Given the description of an element on the screen output the (x, y) to click on. 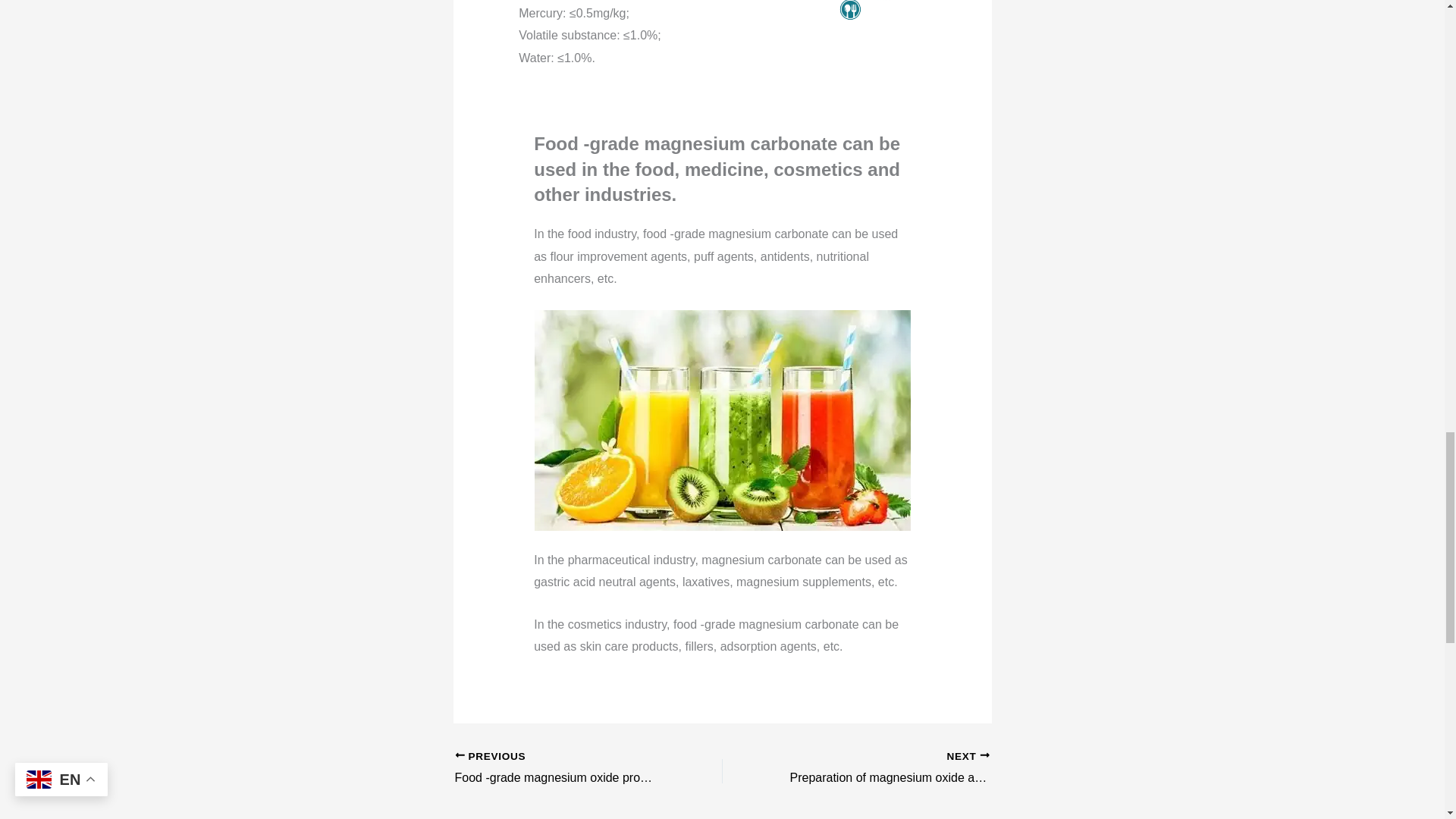
Preparation of magnesium oxide and study on its properties (882, 768)
Food -grade magnesium oxide production technology (561, 768)
food grade magnesium carbonate (880, 11)
Food Clarifier (722, 420)
